Given the description of an element on the screen output the (x, y) to click on. 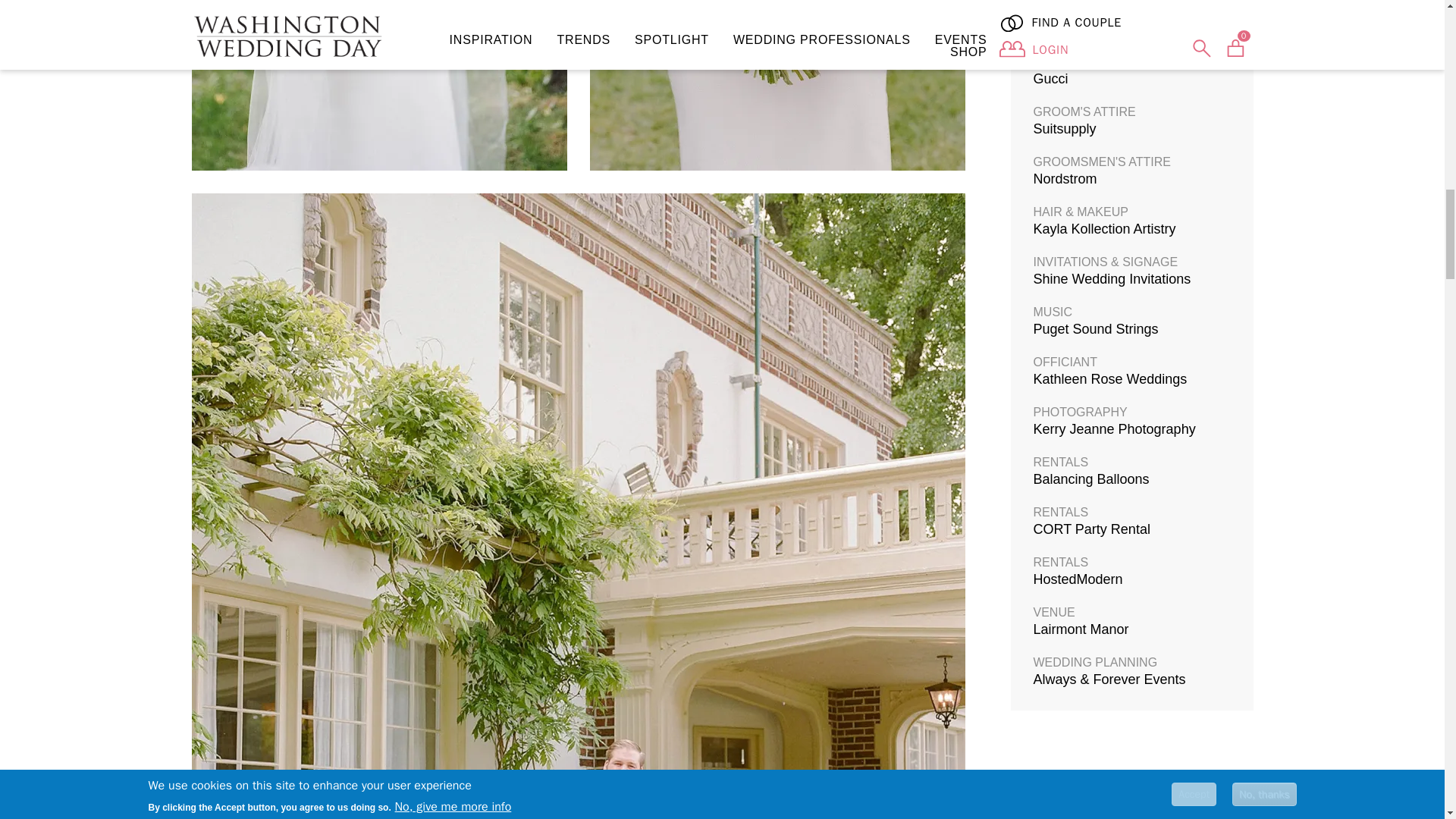
Kayla Kollection Artistry (1103, 228)
Balancing Balloons (1090, 478)
Puget Sound Strings (1094, 328)
Suitsupply (1064, 128)
HostedModern (1077, 579)
Nordstrom (1064, 178)
Kerry Jeanne Photography (1113, 428)
CORT Party Rental (1091, 529)
Shine Wedding Invitations (1111, 278)
Lairmont Manor (1080, 629)
Gucci (1049, 78)
Simply by Tamara Nicole (1107, 28)
